Given the description of an element on the screen output the (x, y) to click on. 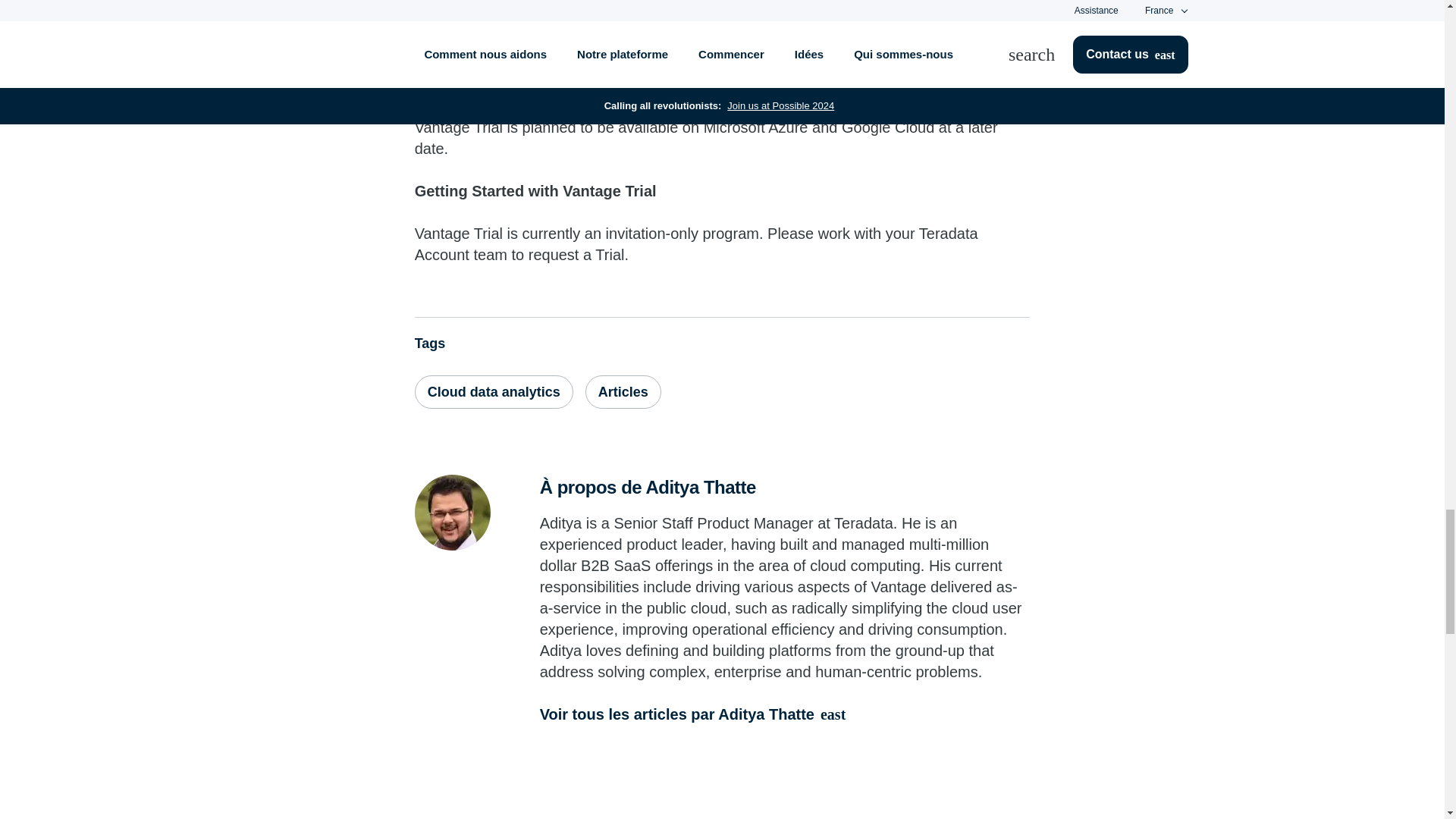
Aditya Thatte (452, 512)
